Given the description of an element on the screen output the (x, y) to click on. 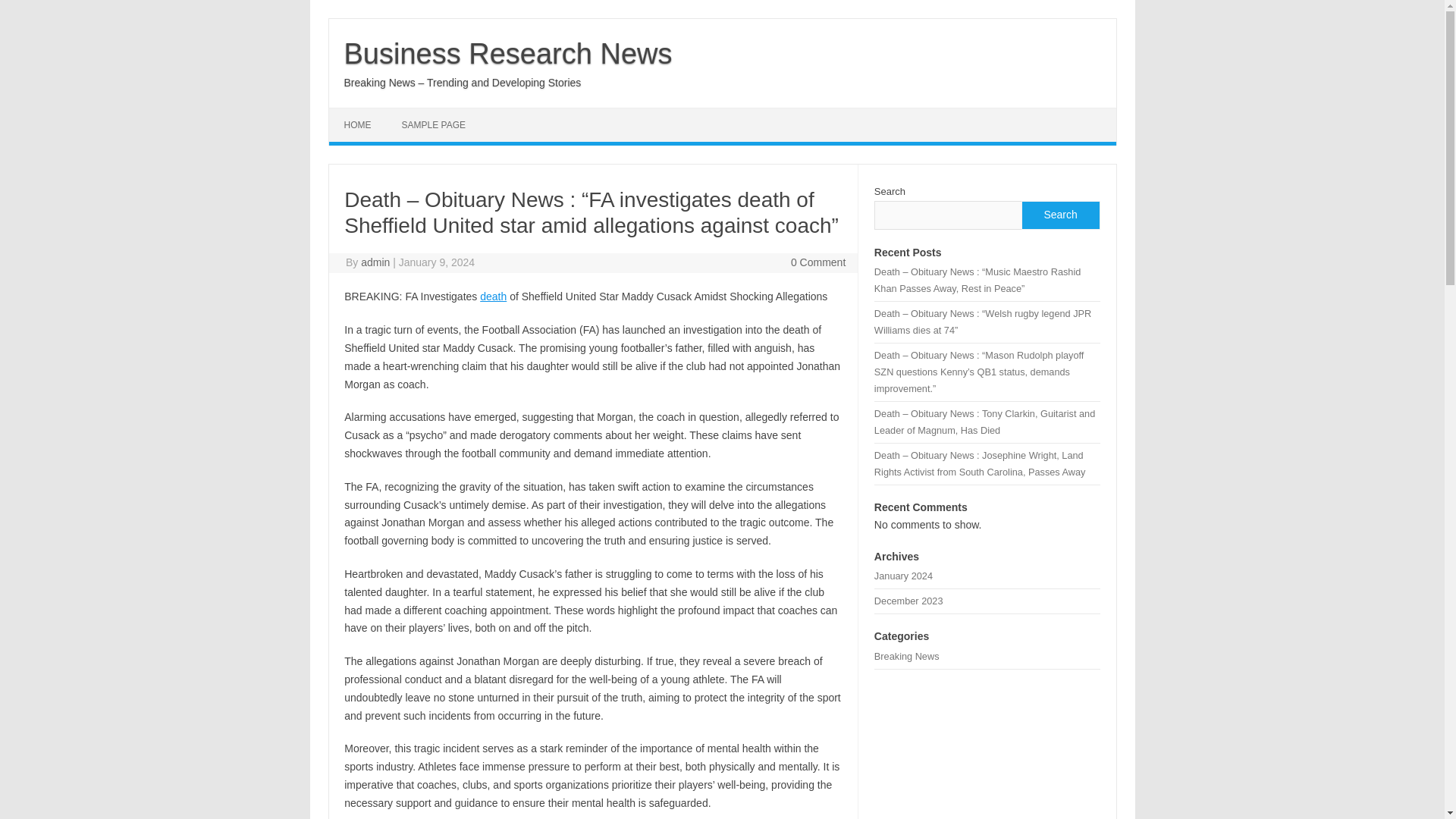
HOME (358, 124)
Search (1059, 215)
admin (375, 262)
December 2023 (909, 600)
Business Research News (507, 53)
Posts by admin (375, 262)
death (493, 296)
Business Research News (507, 53)
Breaking News (907, 655)
0 Comment (817, 262)
